Given the description of an element on the screen output the (x, y) to click on. 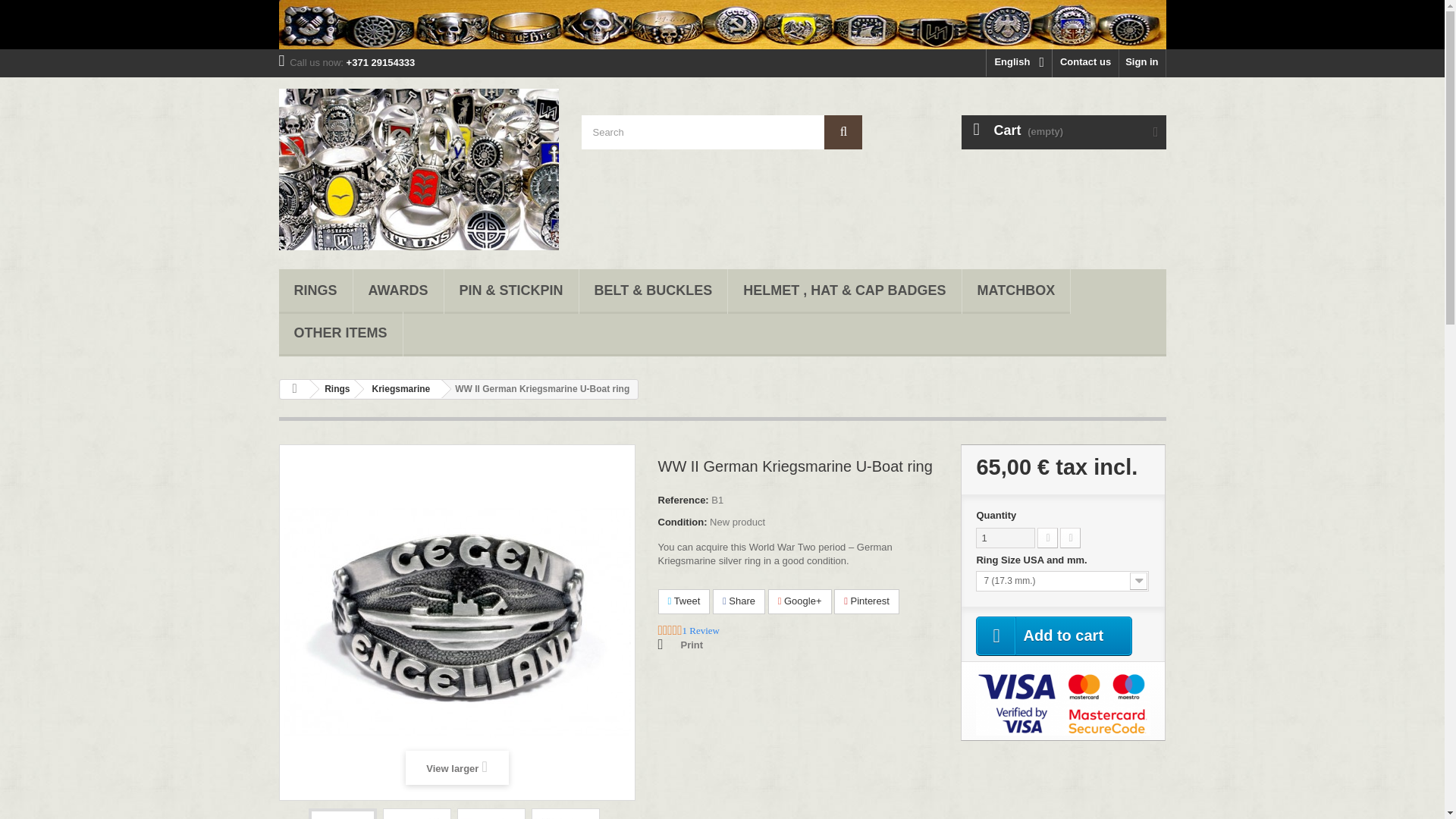
View my shopping cart (1063, 132)
German WW2 rings and other Militaria awards (419, 169)
German rings and other war awards (722, 24)
1 (1005, 537)
Rings (315, 291)
Contact us (1085, 62)
Log in to your customer account (1141, 62)
Contact us (1085, 62)
RINGS (315, 291)
Sign in (1141, 62)
